Given the description of an element on the screen output the (x, y) to click on. 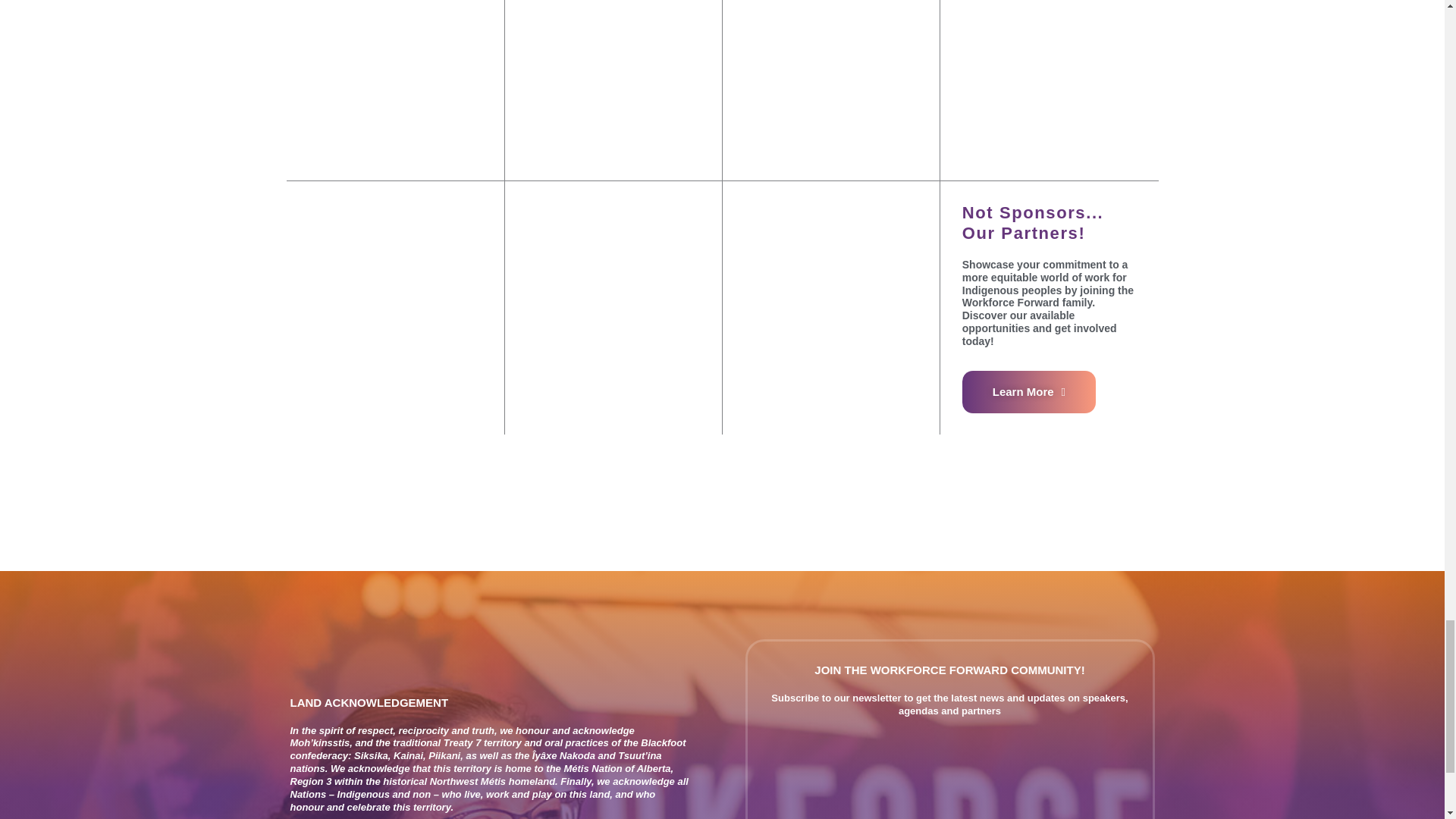
Form 0 (949, 778)
